Given the description of an element on the screen output the (x, y) to click on. 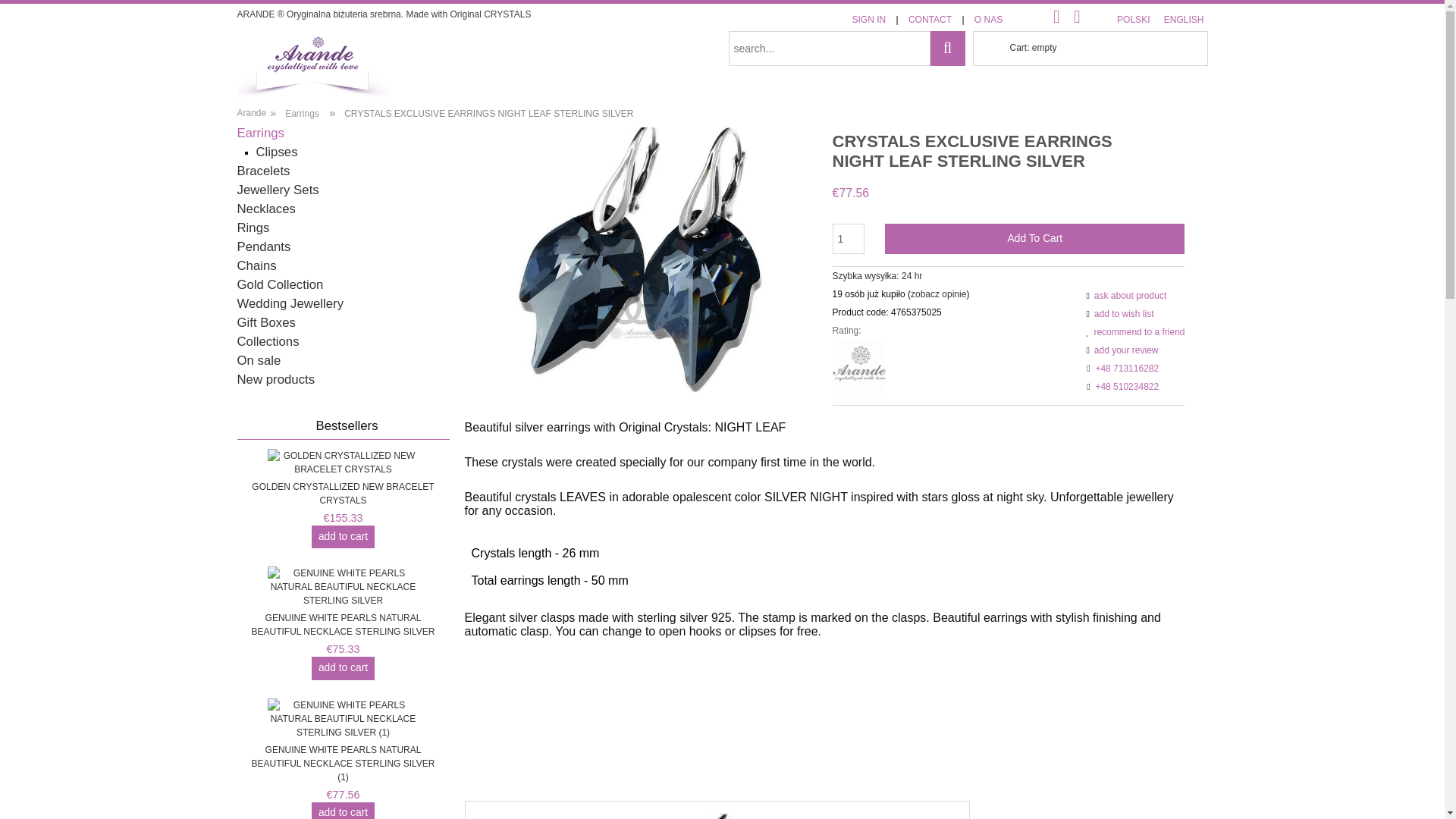
GOLDEN CRYSTALLIZED NEW BRACELET CRYSTALS (342, 479)
Chains (263, 265)
Pendants (270, 246)
Clipses (284, 151)
Bracelets (269, 170)
Clipses (284, 151)
Earrings (267, 133)
English (1133, 19)
Earrings (267, 133)
Jewellery Sets (284, 189)
Arande Twitter (1077, 15)
English (1183, 19)
Rings (259, 227)
O NAS (988, 19)
Jewellery Sets (284, 189)
